Given the description of an element on the screen output the (x, y) to click on. 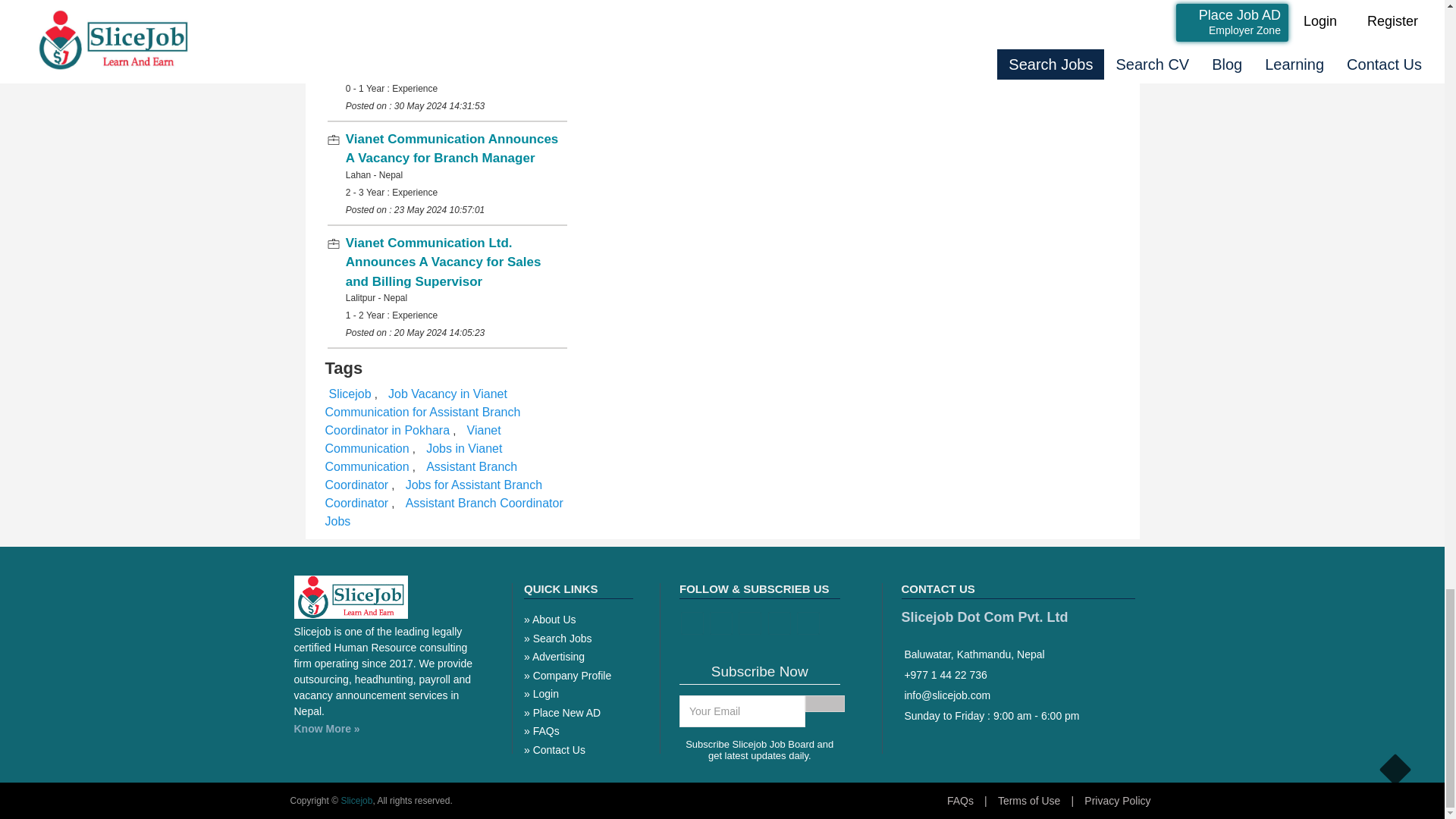
Instagram (749, 622)
Assistant Branch Coordinator Jobs (443, 511)
Facebook (692, 622)
Assistant Branch Coordinator (420, 475)
Slicejob (350, 393)
Vianet Communication Announces A Vacancy for Branch Manager (452, 148)
Linkedin (807, 622)
Youtube (721, 622)
Twitter (779, 622)
Vianet Communication (412, 439)
Jobs in Vianet Communication (413, 457)
Jobs for Assistant Branch Coordinator (432, 493)
